Given the description of an element on the screen output the (x, y) to click on. 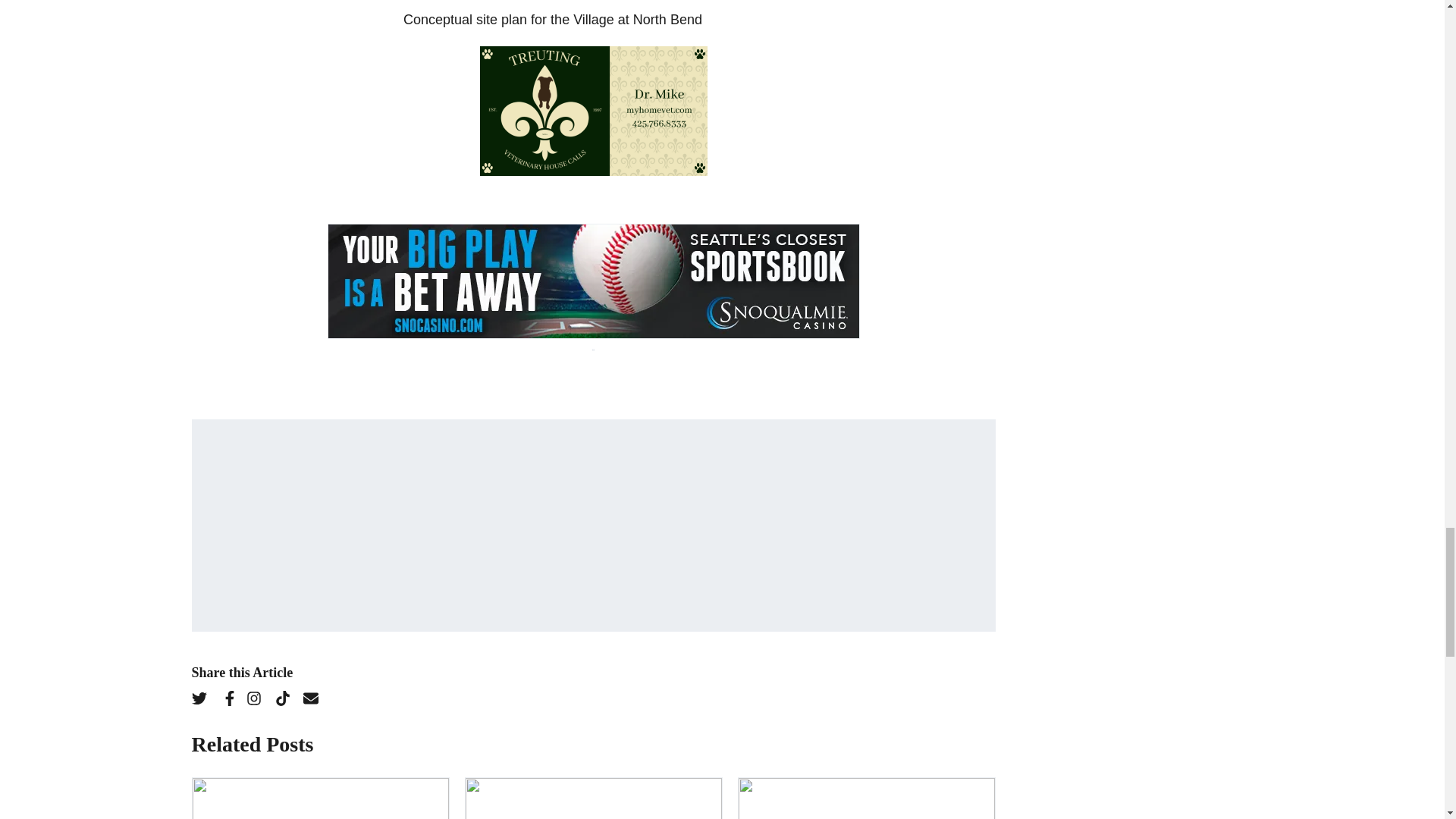
Email (316, 701)
Twitter (203, 701)
Instagram (258, 701)
Facebook (232, 701)
TikTok (287, 701)
